Given the description of an element on the screen output the (x, y) to click on. 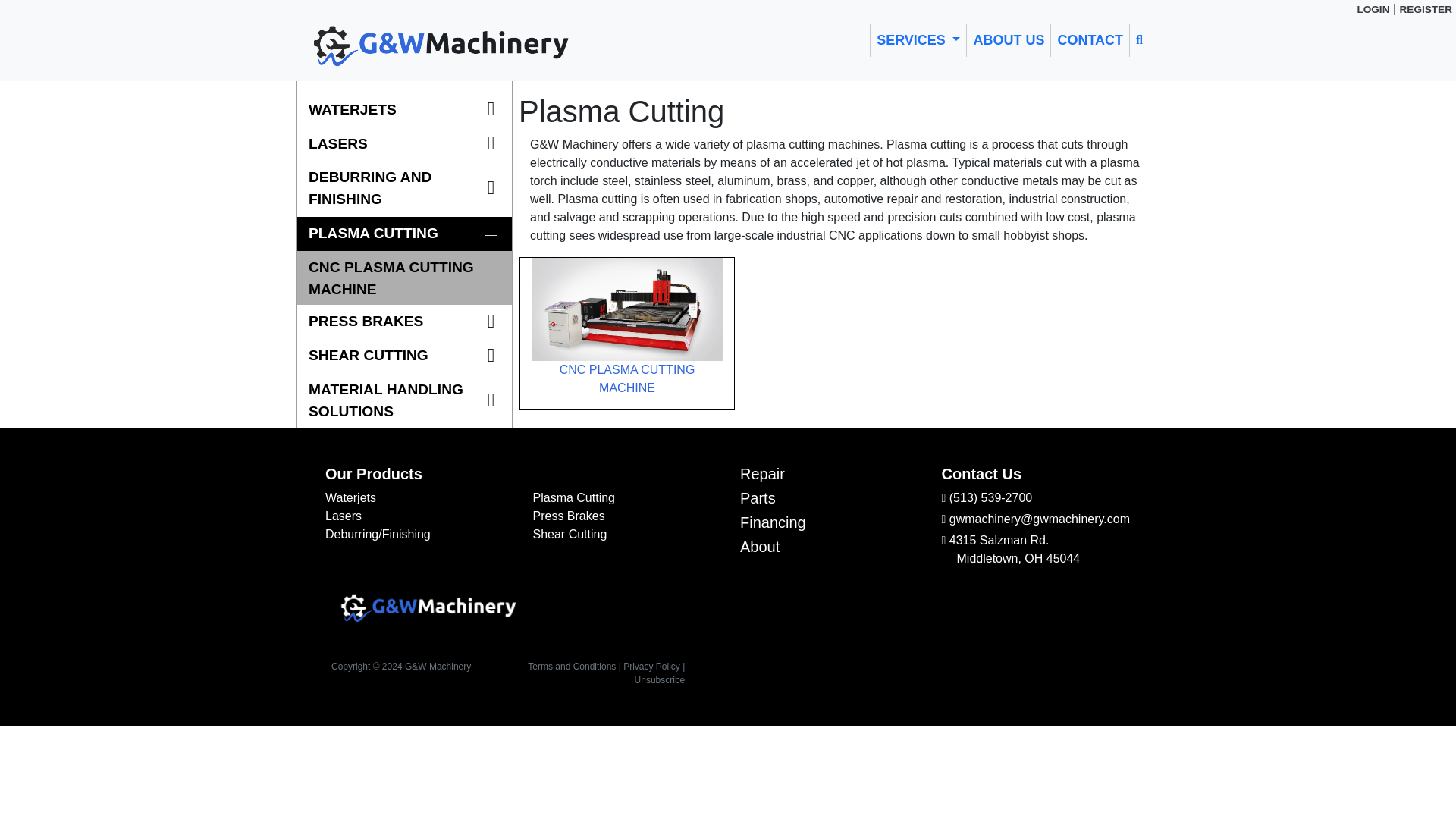
LOGIN (1372, 9)
REGISTER (1426, 9)
SERVICES (918, 40)
WATERJETS (404, 110)
LASERS (404, 144)
ABOUT US (1007, 40)
CONTACT (1090, 40)
